Given the description of an element on the screen output the (x, y) to click on. 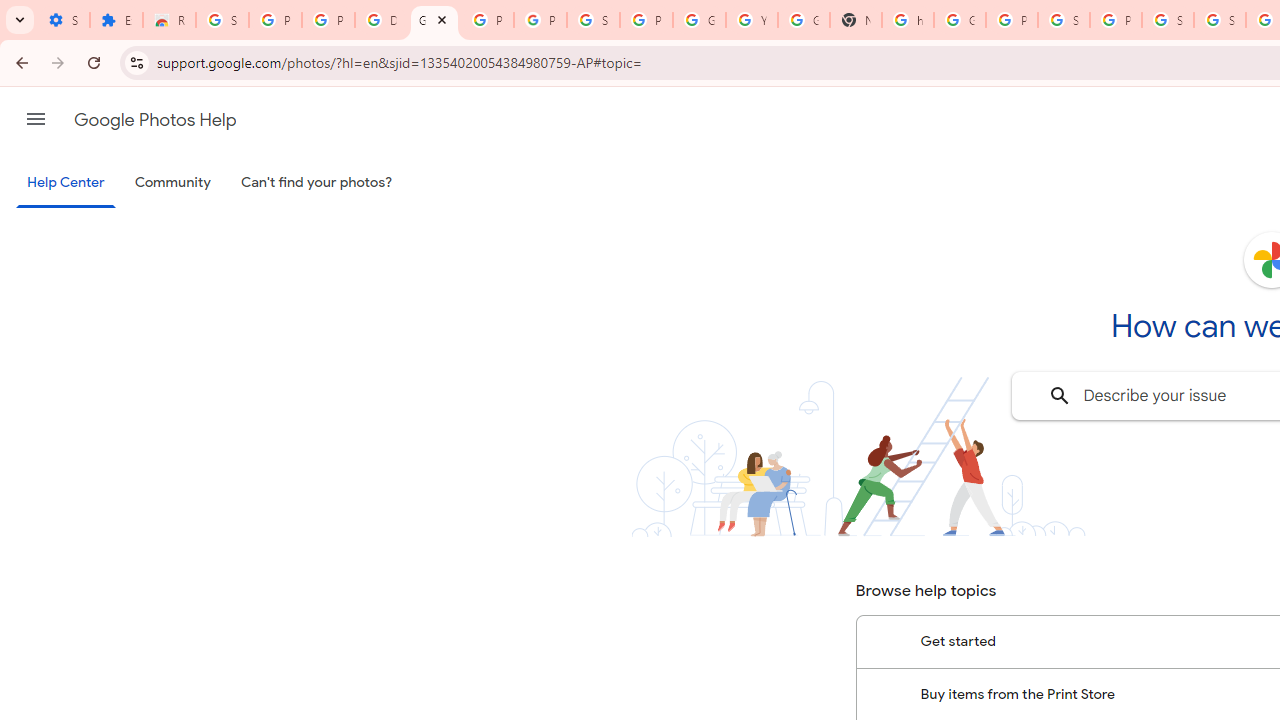
Google Photos Help (155, 119)
Help Center (65, 183)
Google Photos Help (434, 20)
https://scholar.google.com/ (907, 20)
YouTube (751, 20)
Delete photos & videos - Computer - Google Photos Help (381, 20)
